Given the description of an element on the screen output the (x, y) to click on. 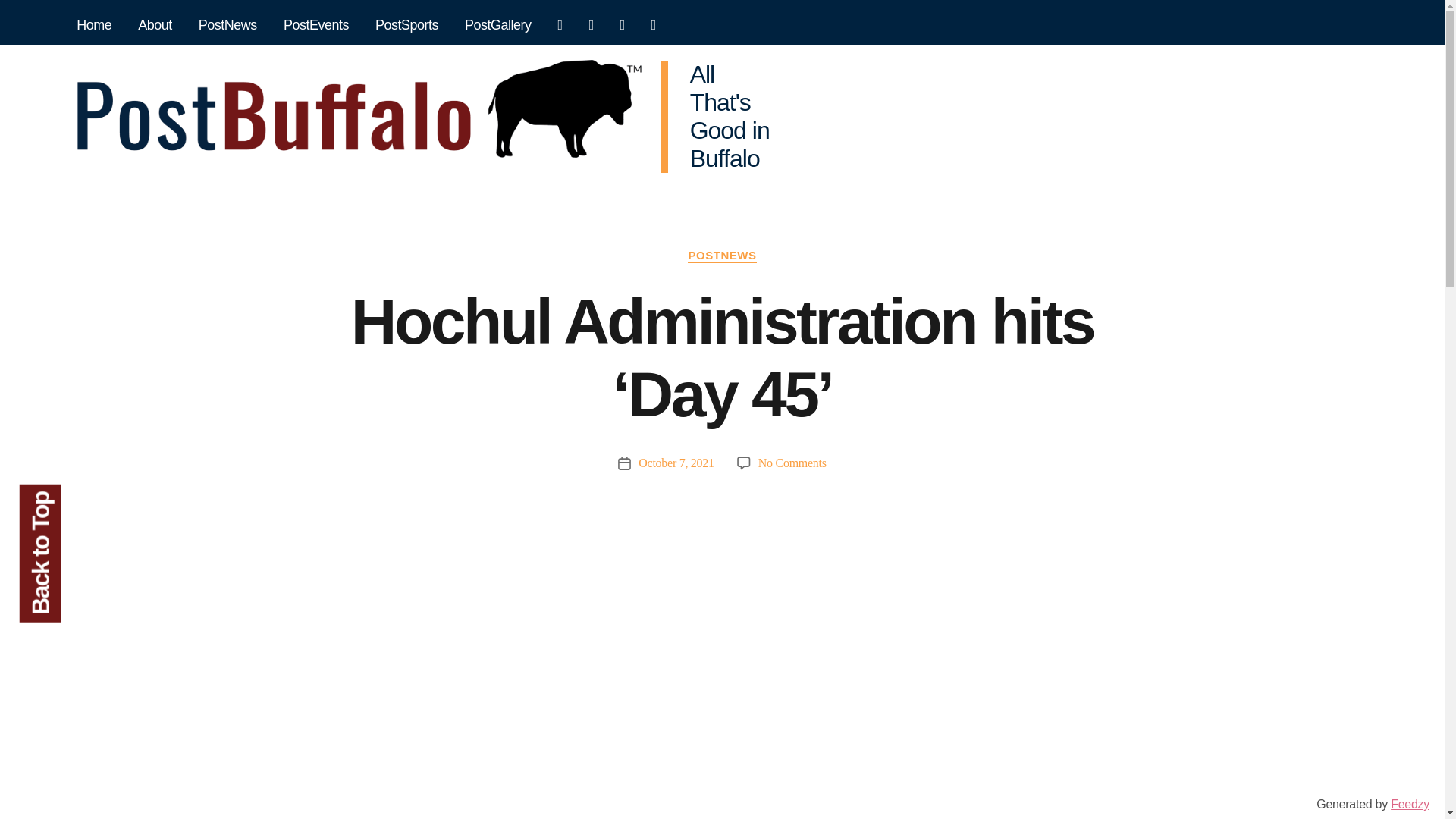
October 7, 2021 (676, 462)
PostSports (406, 25)
PostGallery (498, 25)
PostEvents (315, 25)
Back to Top (88, 504)
Home (93, 25)
PostNews (227, 25)
About (154, 25)
Feedzy (1409, 803)
POSTNEWS (721, 255)
